Given the description of an element on the screen output the (x, y) to click on. 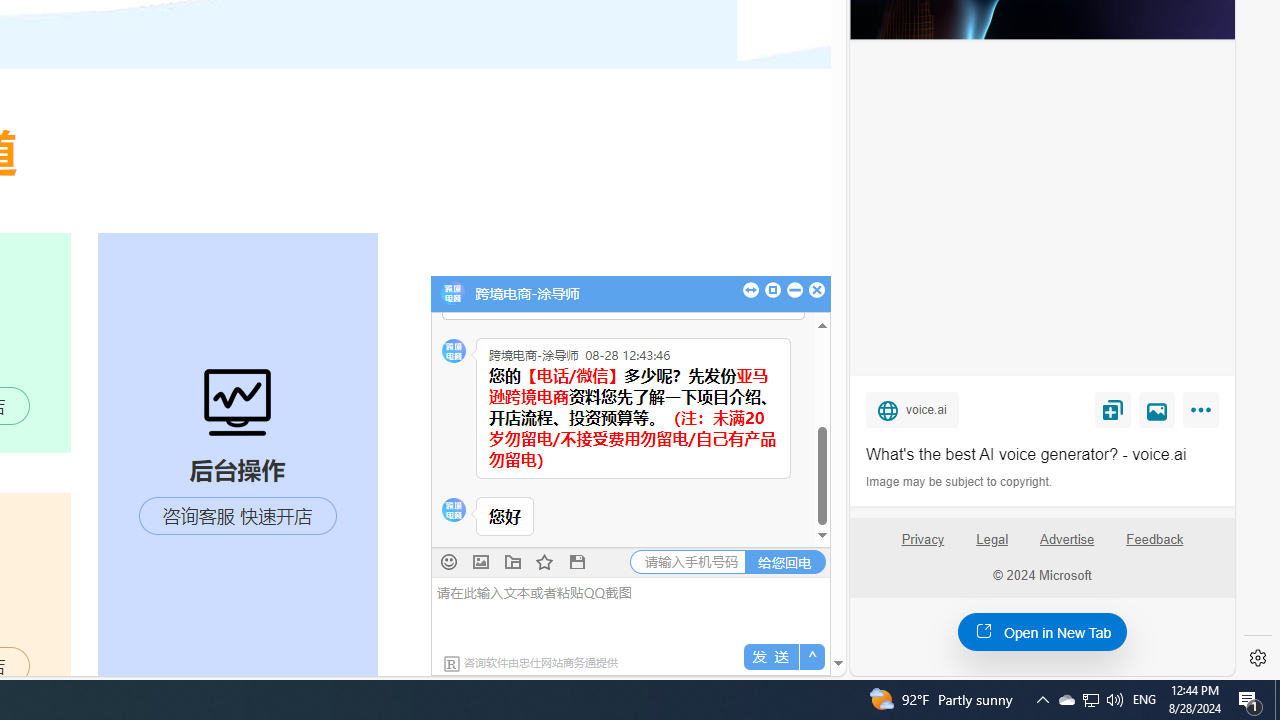
AutomationID: tel (687, 561)
Save (1112, 409)
